Given the description of an element on the screen output the (x, y) to click on. 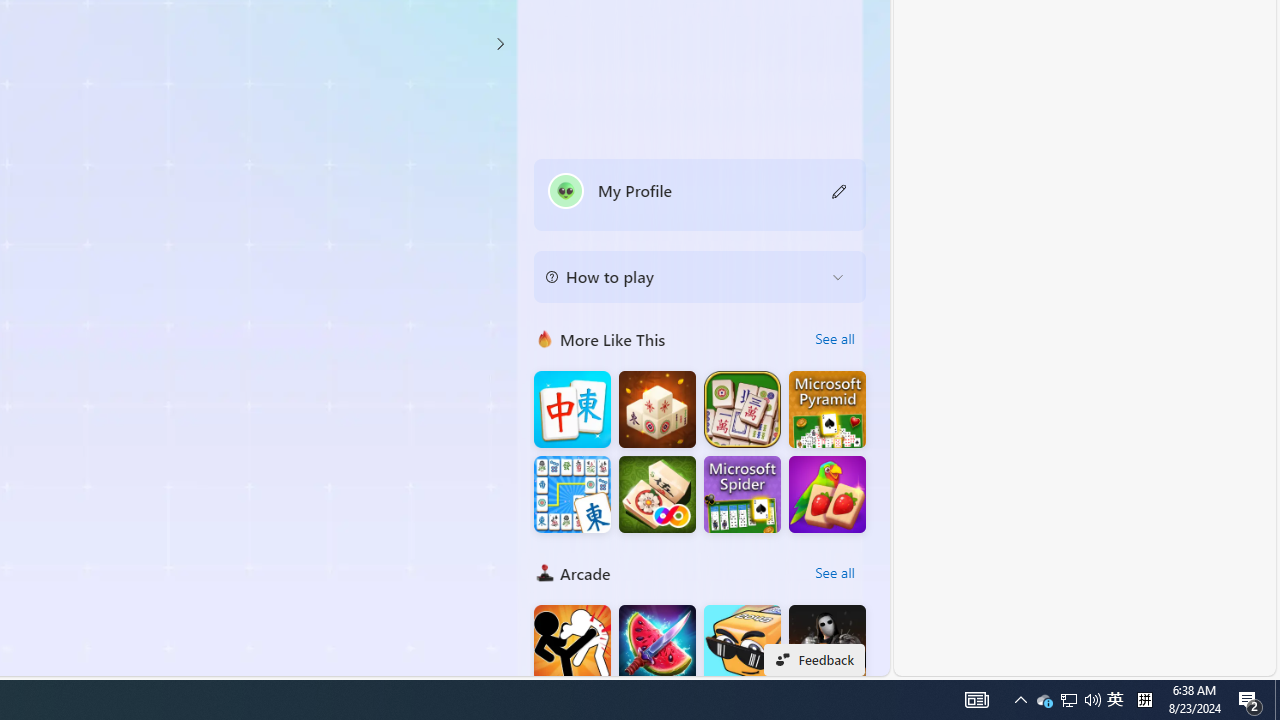
Class: control (499, 43)
Mahjong 3D Connect (657, 409)
Daily Mahjong (742, 409)
See all (834, 572)
""'s avatar (565, 190)
See all (834, 572)
Fruit Chopper (657, 643)
Solitaire Mahjong Juicy (827, 494)
Mahjong Connect Deluxe (571, 494)
Mahjong Big (571, 409)
Stickman Fighter : Mega Brawl (571, 643)
How to play (683, 276)
Mahjong FRVR (657, 494)
Class: button edit-icon (839, 190)
